Given the description of an element on the screen output the (x, y) to click on. 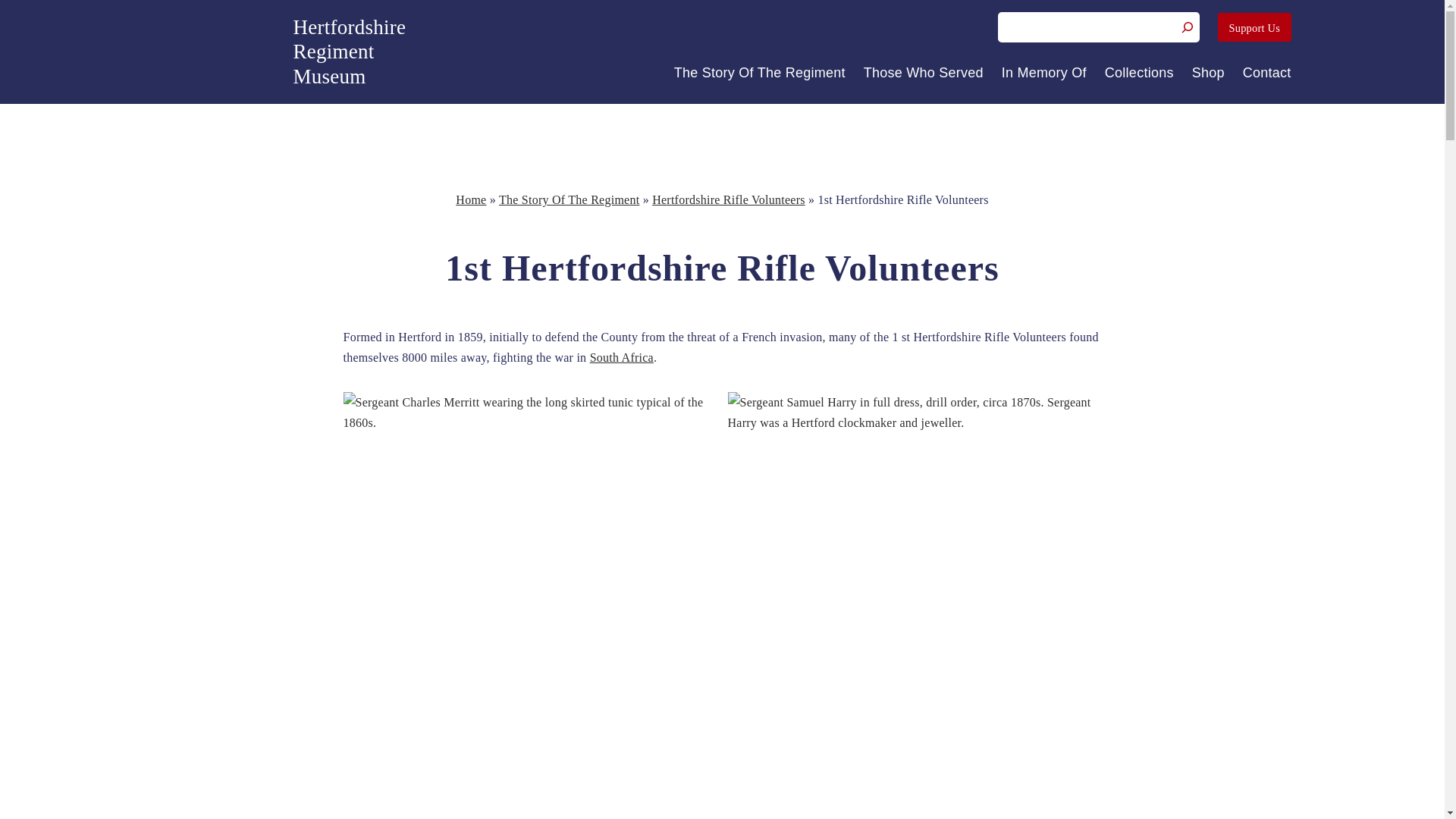
Those Who Served (923, 73)
Support Us (1253, 27)
Collections (1139, 73)
Hertfordshire Rifle Volunteers (728, 199)
South Africa (621, 357)
In Memory Of (1043, 73)
The Story Of The Regiment (349, 51)
The Story Of The Regiment (759, 73)
Home (569, 199)
